Given the description of an element on the screen output the (x, y) to click on. 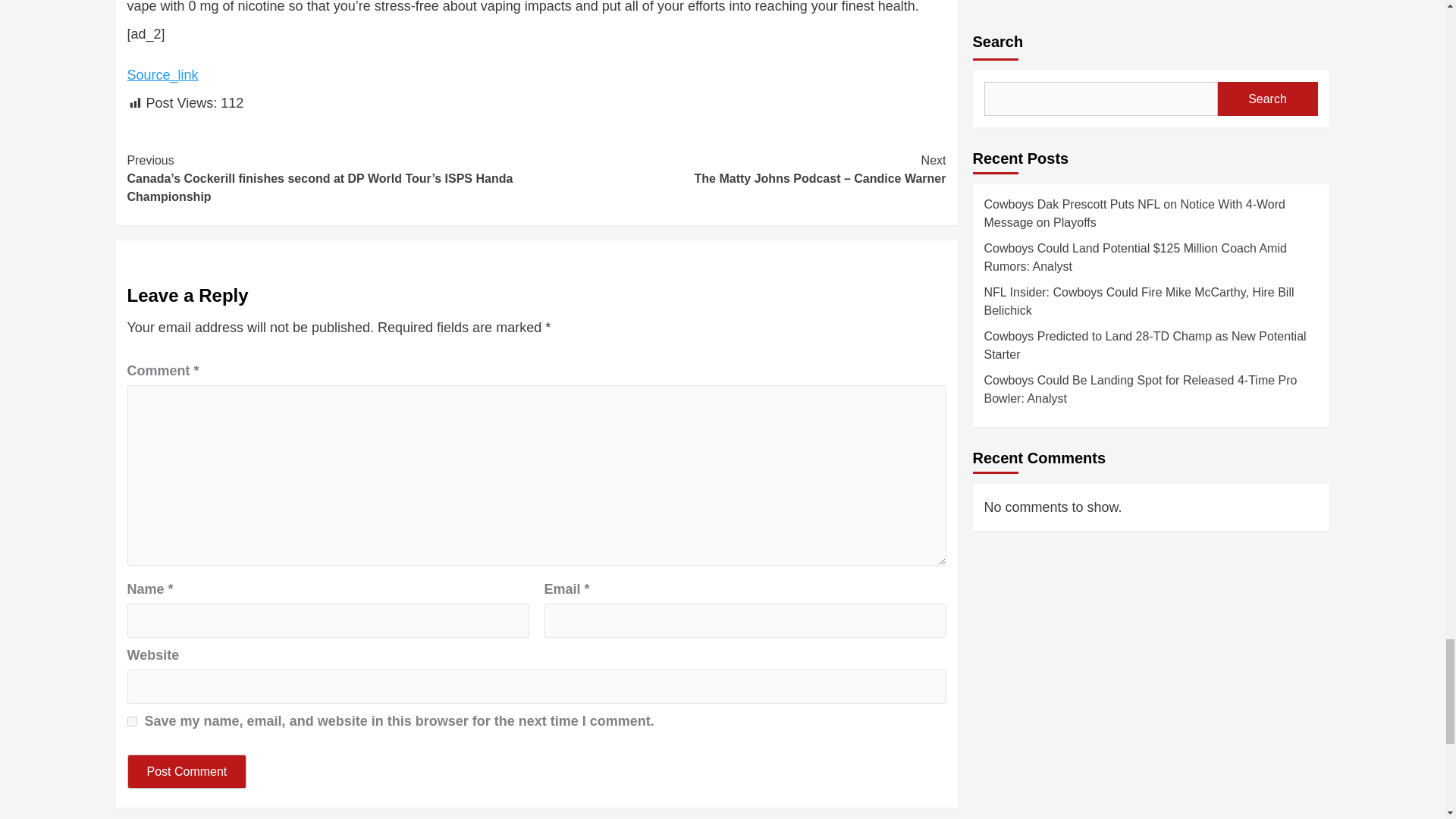
Post Comment (187, 771)
Post Comment (187, 771)
yes (132, 721)
